Given the description of an element on the screen output the (x, y) to click on. 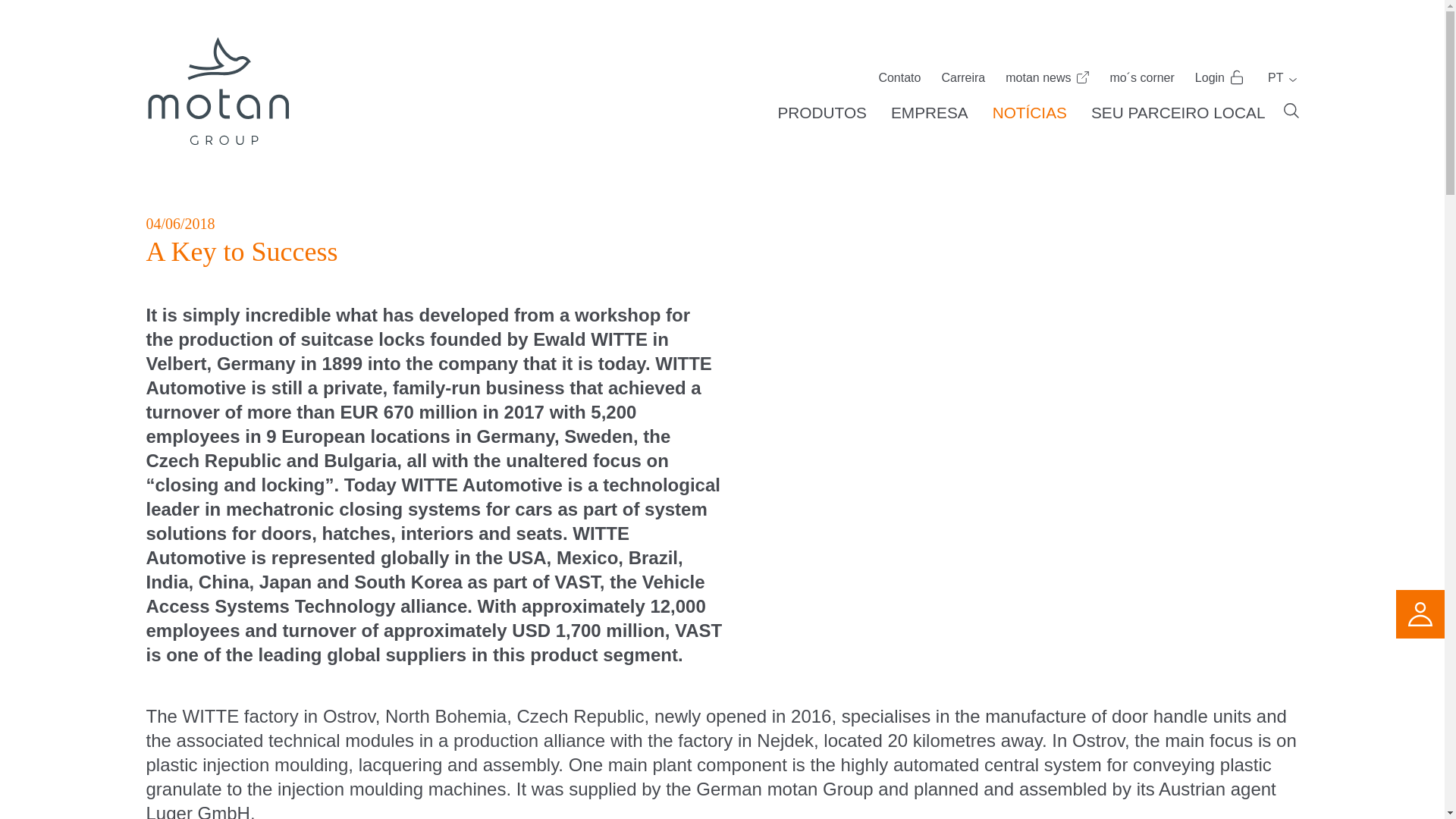
PRODUTOS (821, 113)
motan news (1047, 77)
Carreira (963, 77)
Login (1217, 77)
Login (1217, 77)
motan news (1047, 77)
Carreira (963, 77)
Contato (899, 77)
motan group (216, 90)
Contato (899, 77)
SEU PARCEIRO LOCAL (1178, 113)
Portuguese (1274, 77)
PT (1274, 77)
Produtos (821, 113)
EMPRESA (929, 113)
